Given the description of an element on the screen output the (x, y) to click on. 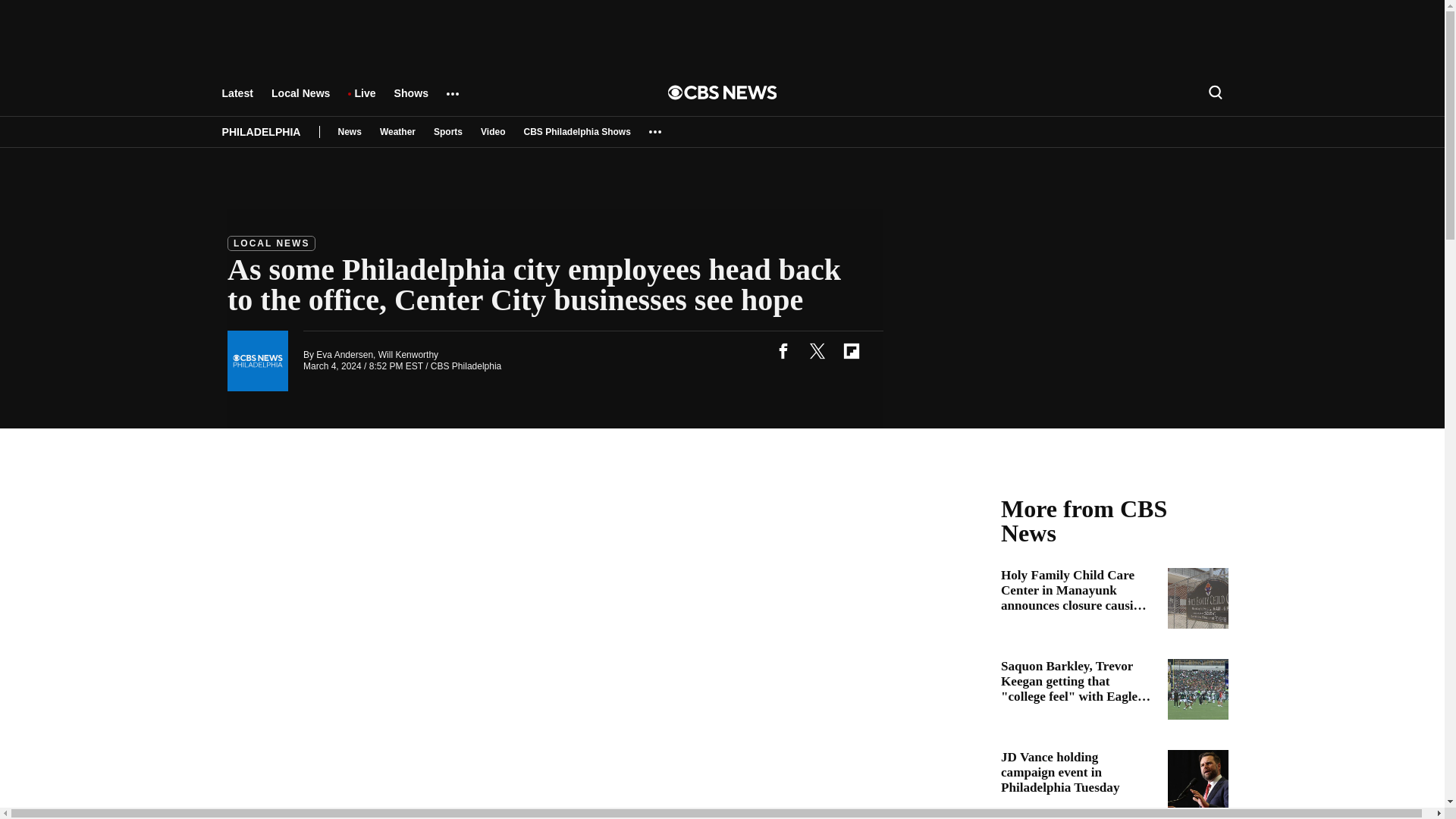
facebook (782, 350)
Latest (236, 100)
flipboard (850, 350)
twitter (816, 350)
Local News (300, 100)
